Given the description of an element on the screen output the (x, y) to click on. 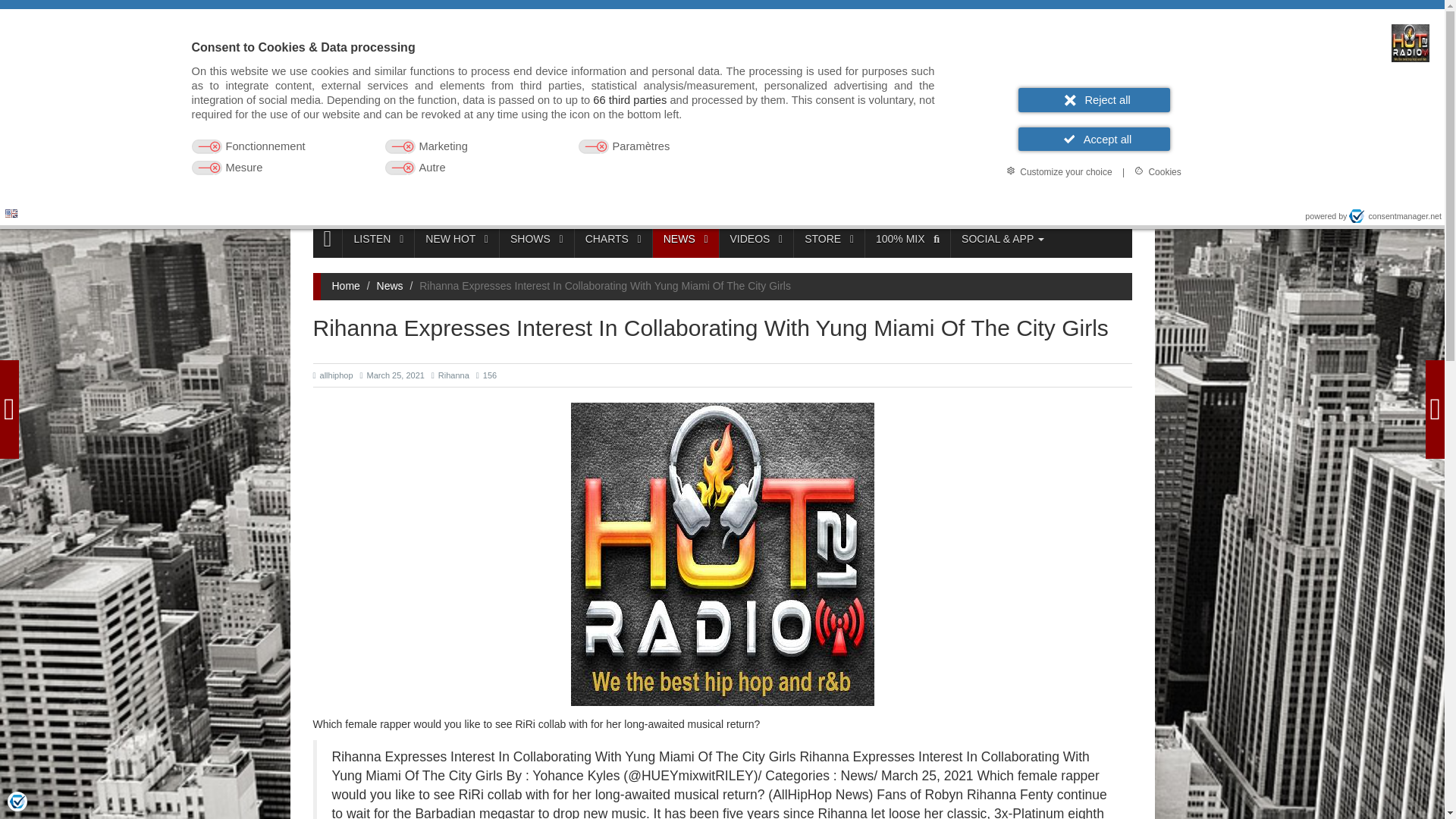
Customize your choice (1058, 171)
Listen (982, 147)
STORE   (828, 238)
SHOWS   (536, 238)
Listen Live (444, 158)
1 point in the charts (981, 196)
NEWS   (685, 238)
66 third parties (629, 100)
VIDEOS   (756, 238)
Language: en (11, 212)
Purpose (562, 158)
Cookies (1157, 171)
Dislike (1006, 196)
Like (957, 196)
Language: en (11, 213)
